Given the description of an element on the screen output the (x, y) to click on. 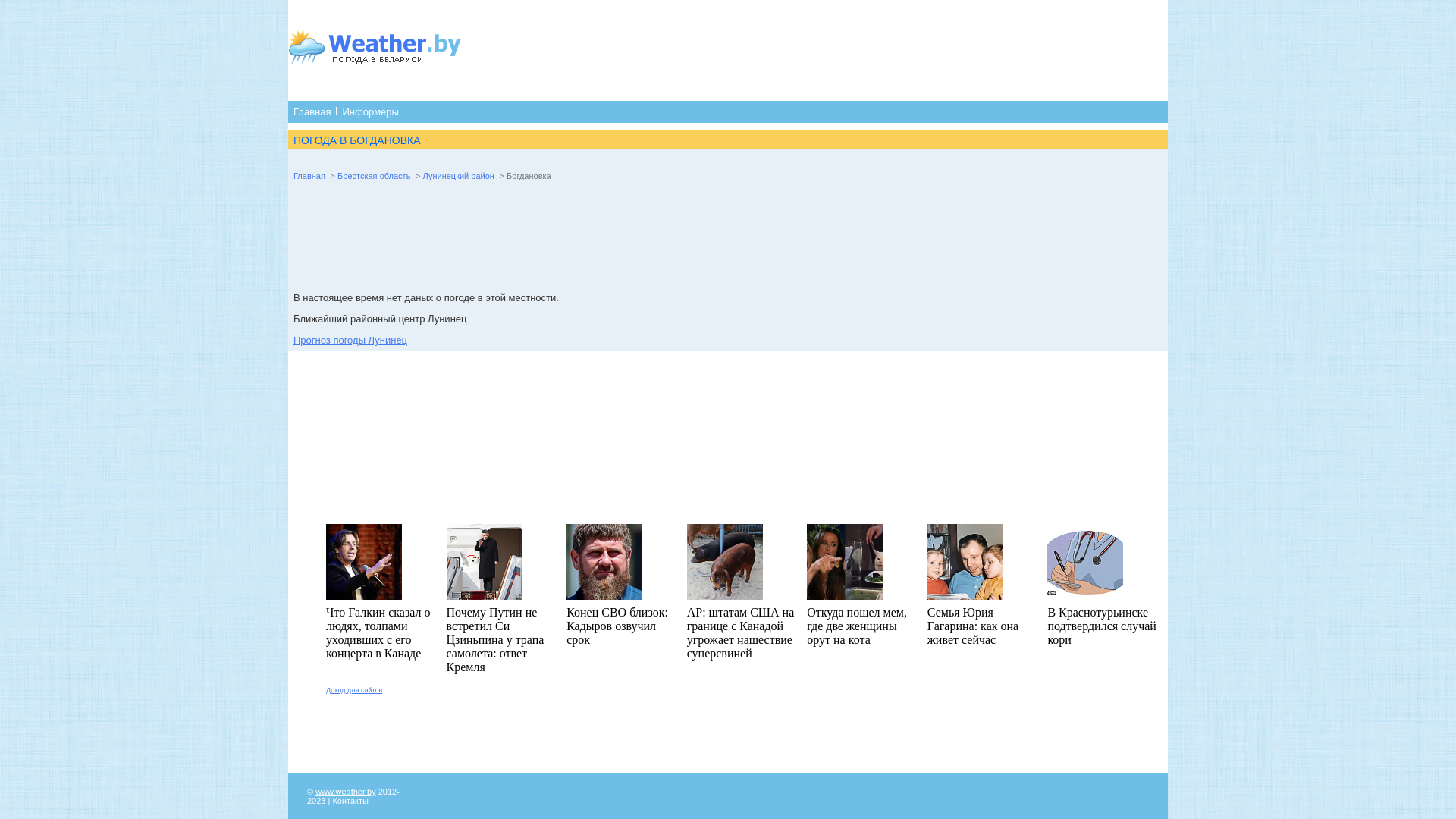
www.weather.by Element type: text (345, 791)
Advertisement Element type: hover (727, 728)
Advertisement Element type: hover (569, 237)
Advertisement Element type: hover (778, 49)
